Given the description of an element on the screen output the (x, y) to click on. 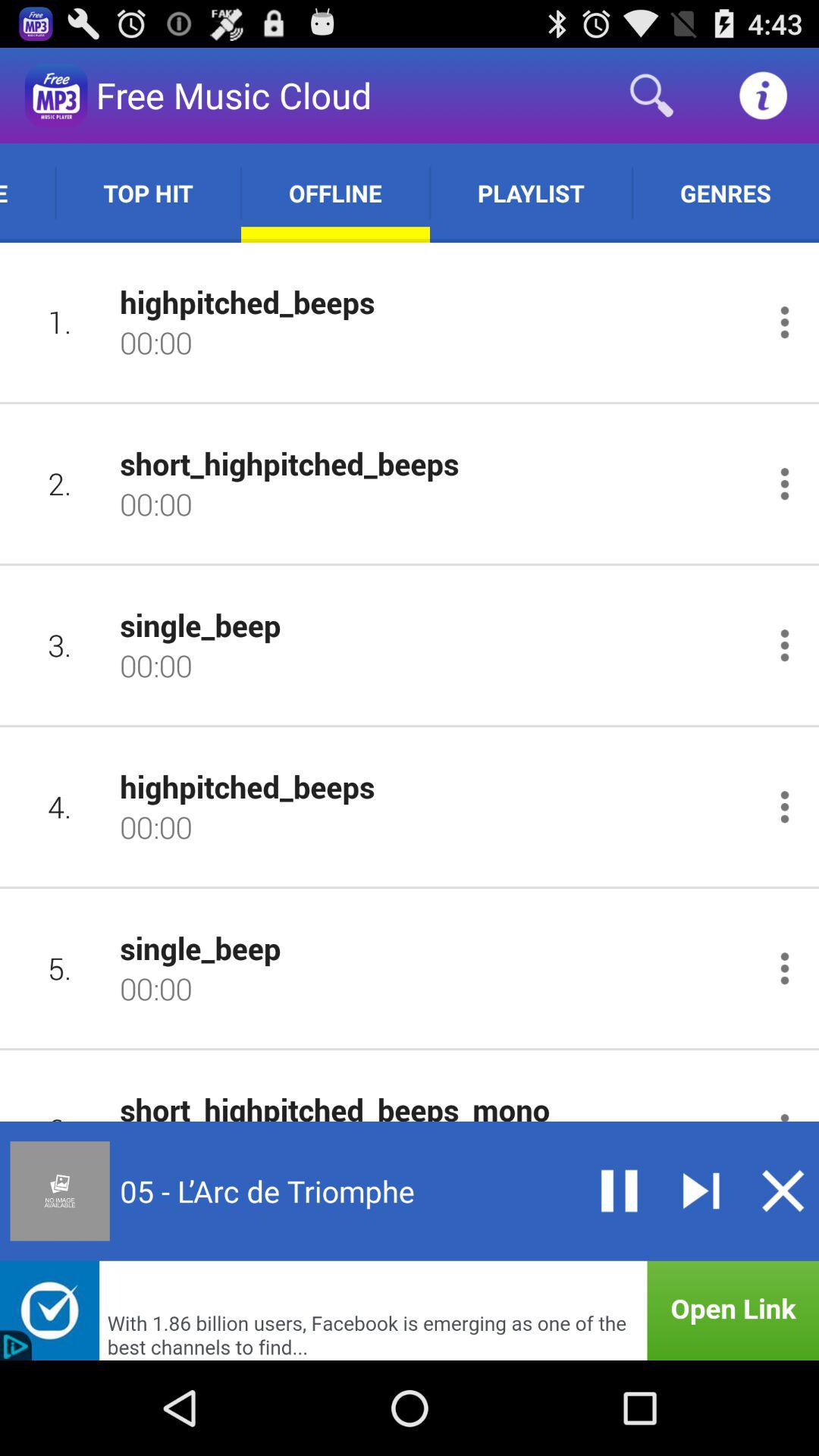
high pitched beeps options (784, 806)
